Given the description of an element on the screen output the (x, y) to click on. 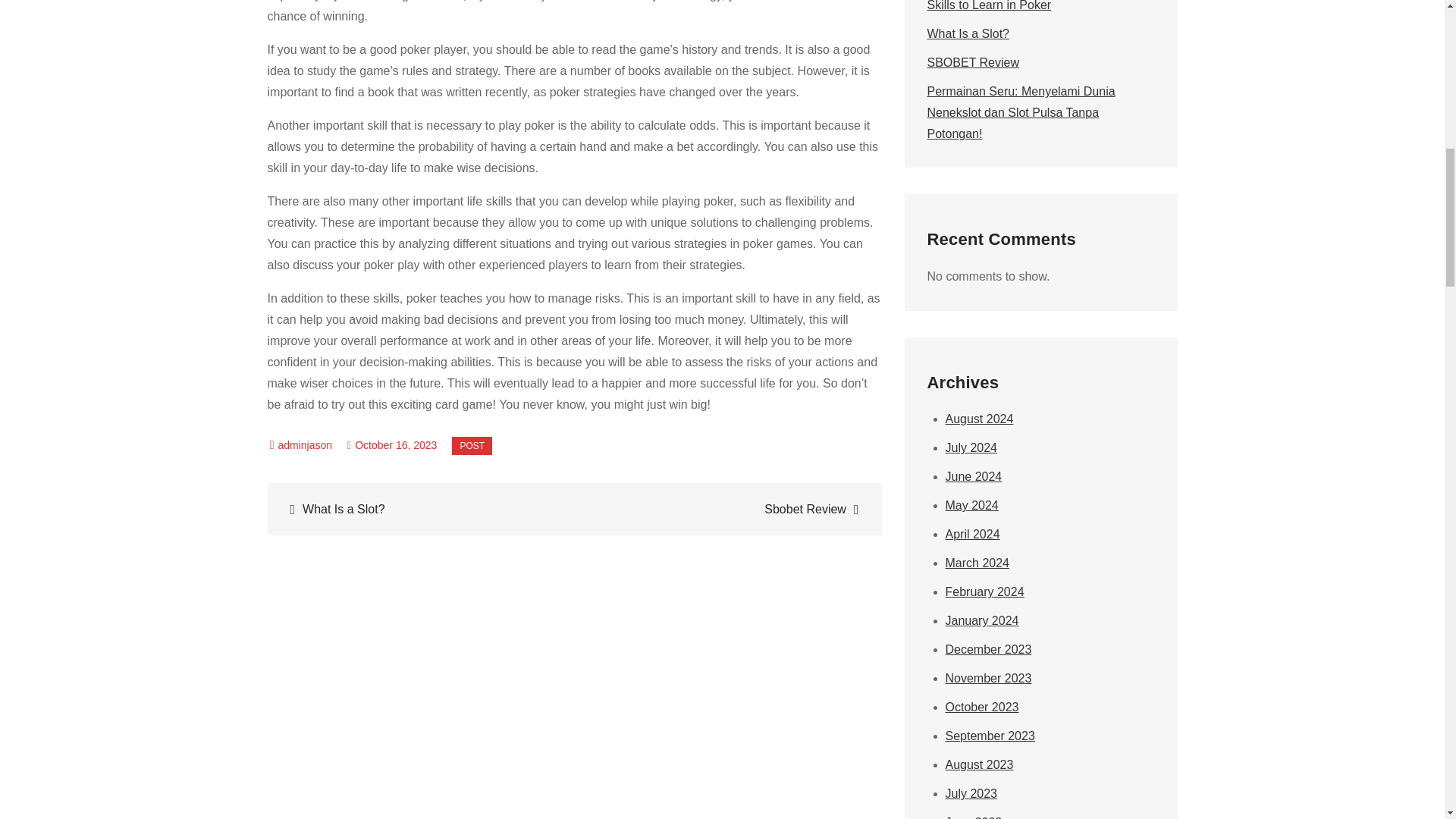
Sbobet Review (725, 508)
October 16, 2023 (391, 444)
November 2023 (987, 677)
October 2023 (980, 707)
August 2023 (978, 764)
SBOBET Review (972, 62)
March 2024 (976, 562)
August 2024 (978, 418)
May 2024 (970, 504)
